Given the description of an element on the screen output the (x, y) to click on. 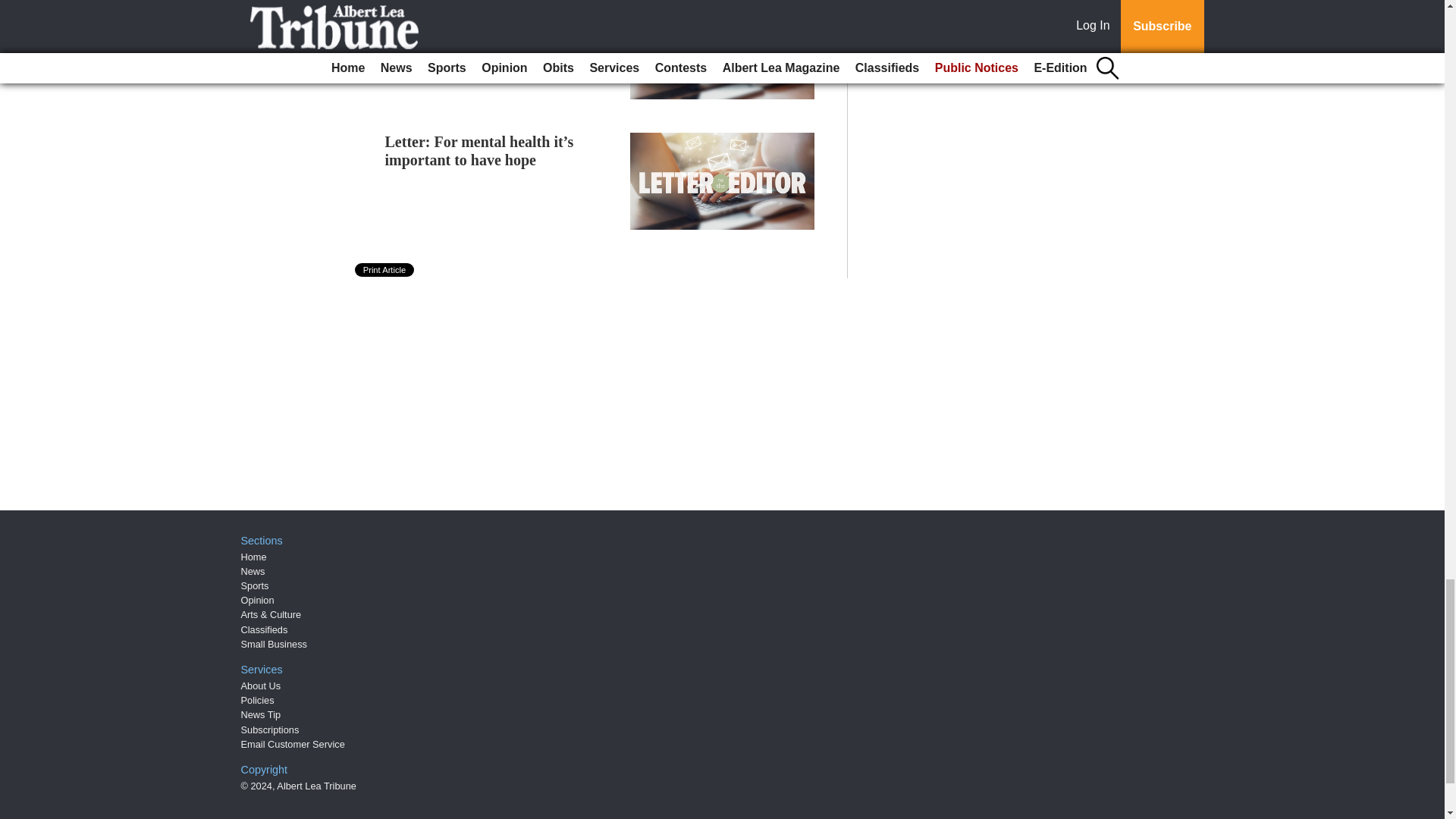
Letter: Funds will help working families with housing (488, 21)
